Given the description of an element on the screen output the (x, y) to click on. 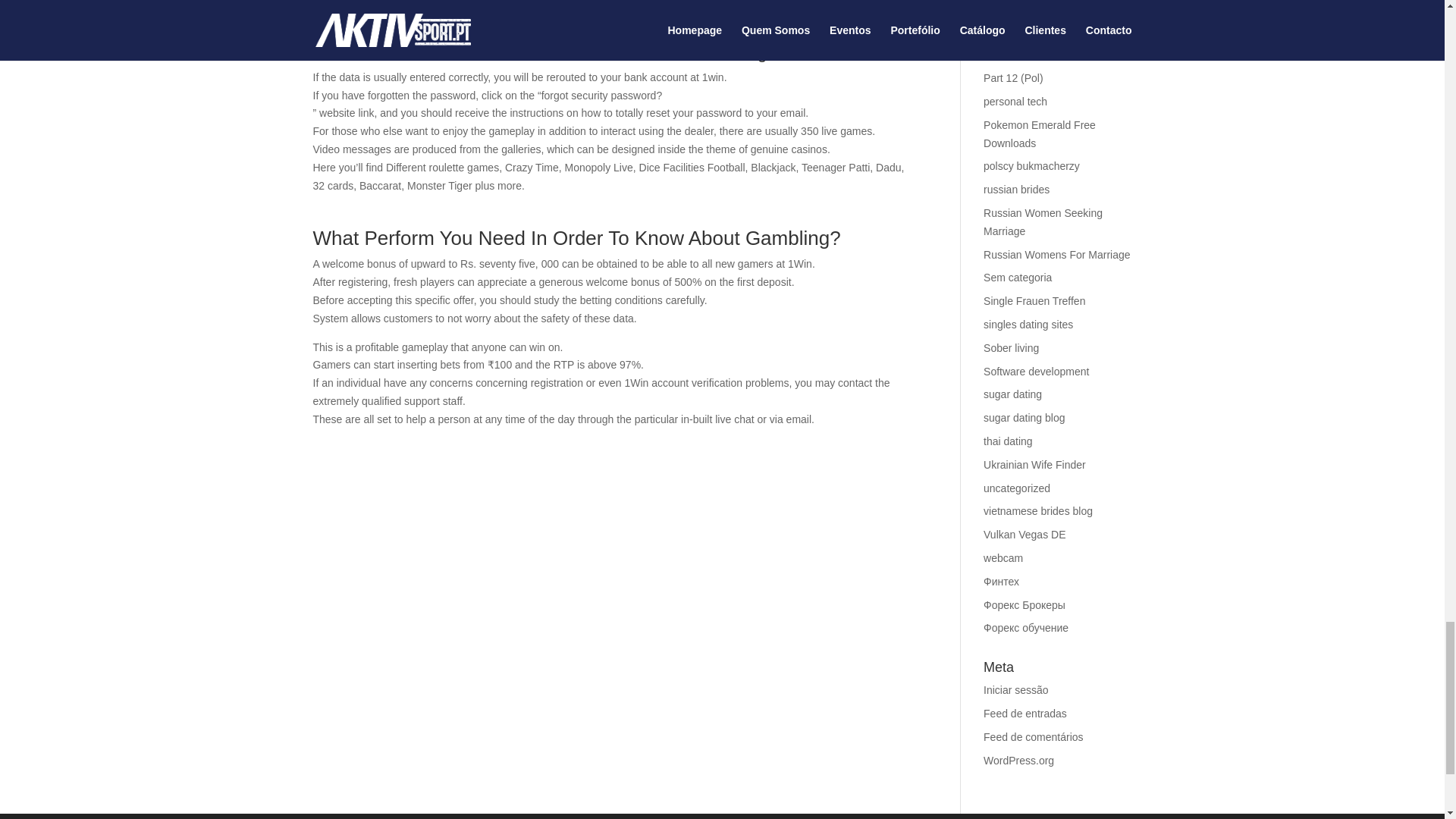
personal tech (1015, 101)
